Given the description of an element on the screen output the (x, y) to click on. 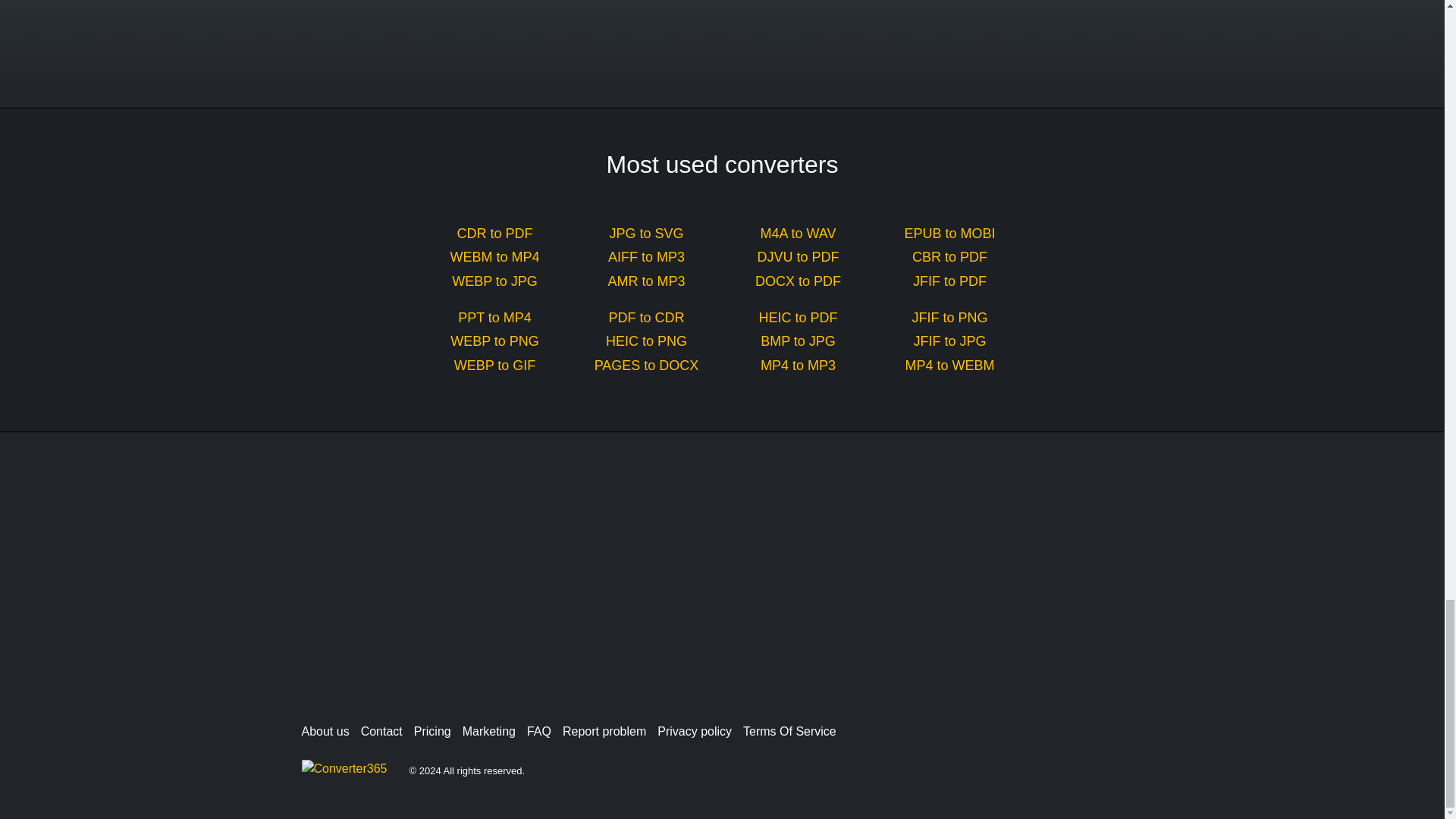
Converter365 (350, 770)
